Given the description of an element on the screen output the (x, y) to click on. 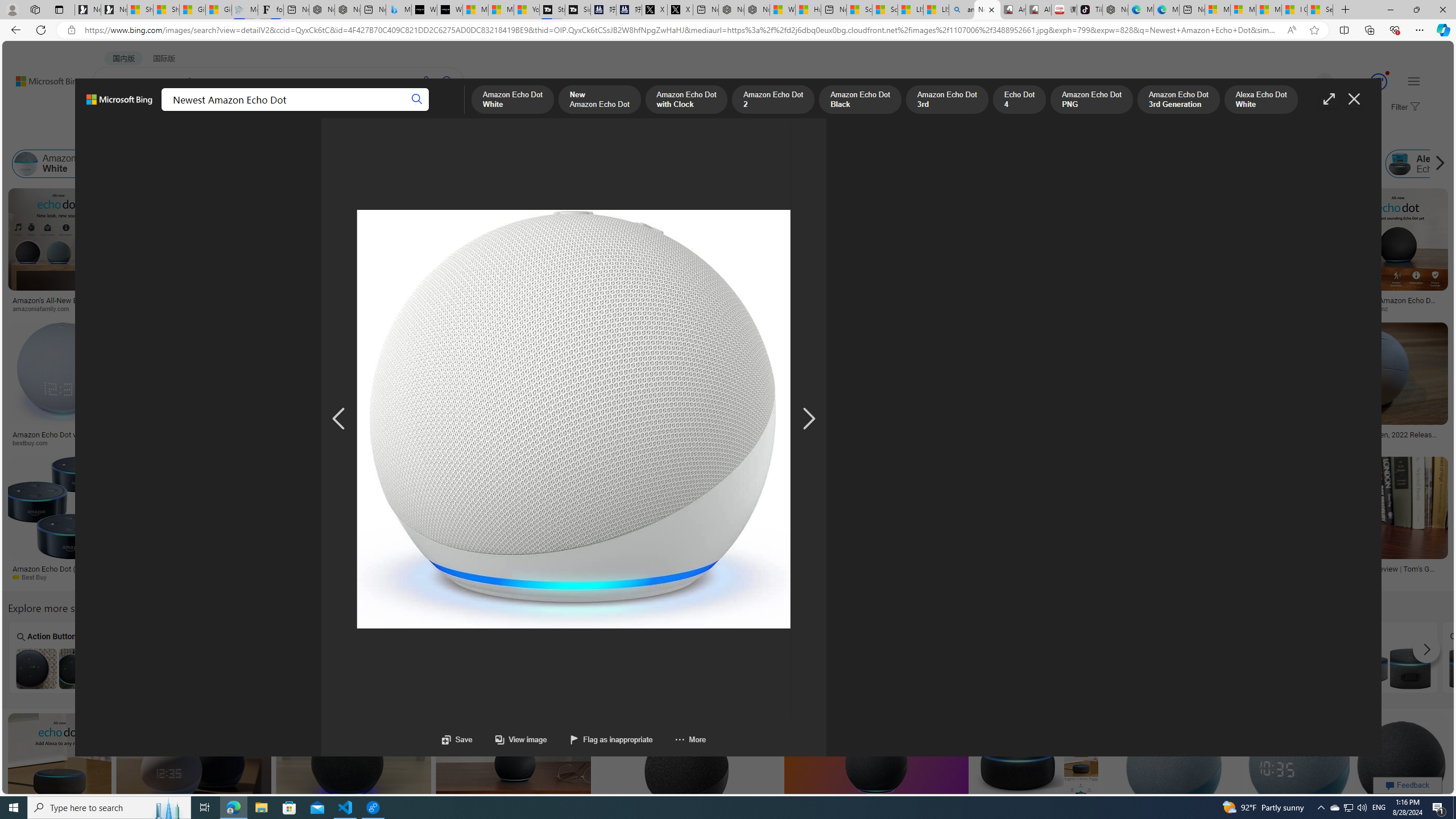
Alex Echo Dot (1399, 163)
Tom's Guide (1310, 576)
Image size (126, 135)
AutomationID: navr (808, 418)
bestbuy.com (438, 442)
What Inside a Amazon Echo Dot (262, 668)
geizhals.de (837, 576)
